Given the description of an element on the screen output the (x, y) to click on. 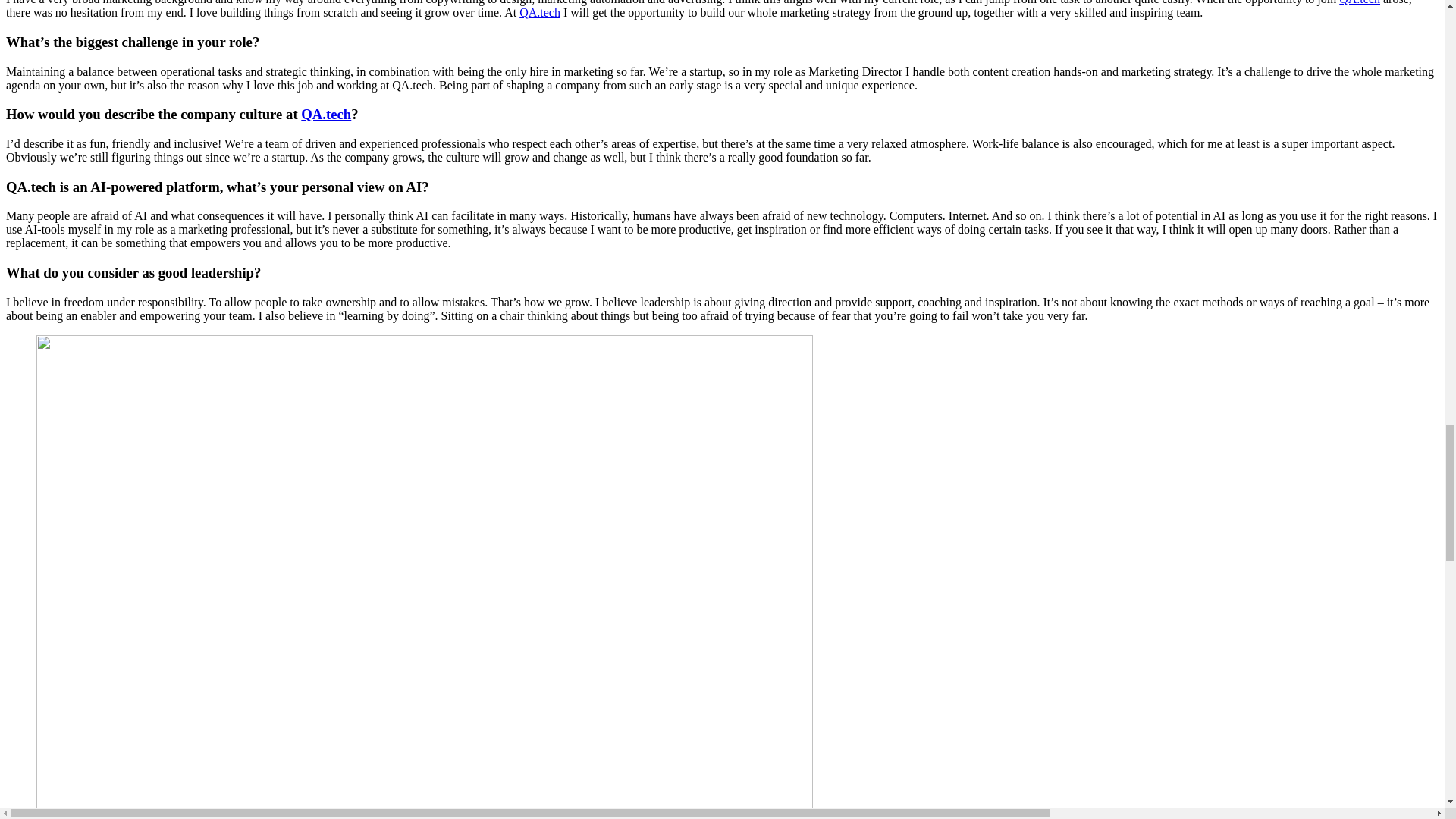
QA.tech (325, 114)
QA.tech (1359, 2)
QA.tech (539, 11)
